Given the description of an element on the screen output the (x, y) to click on. 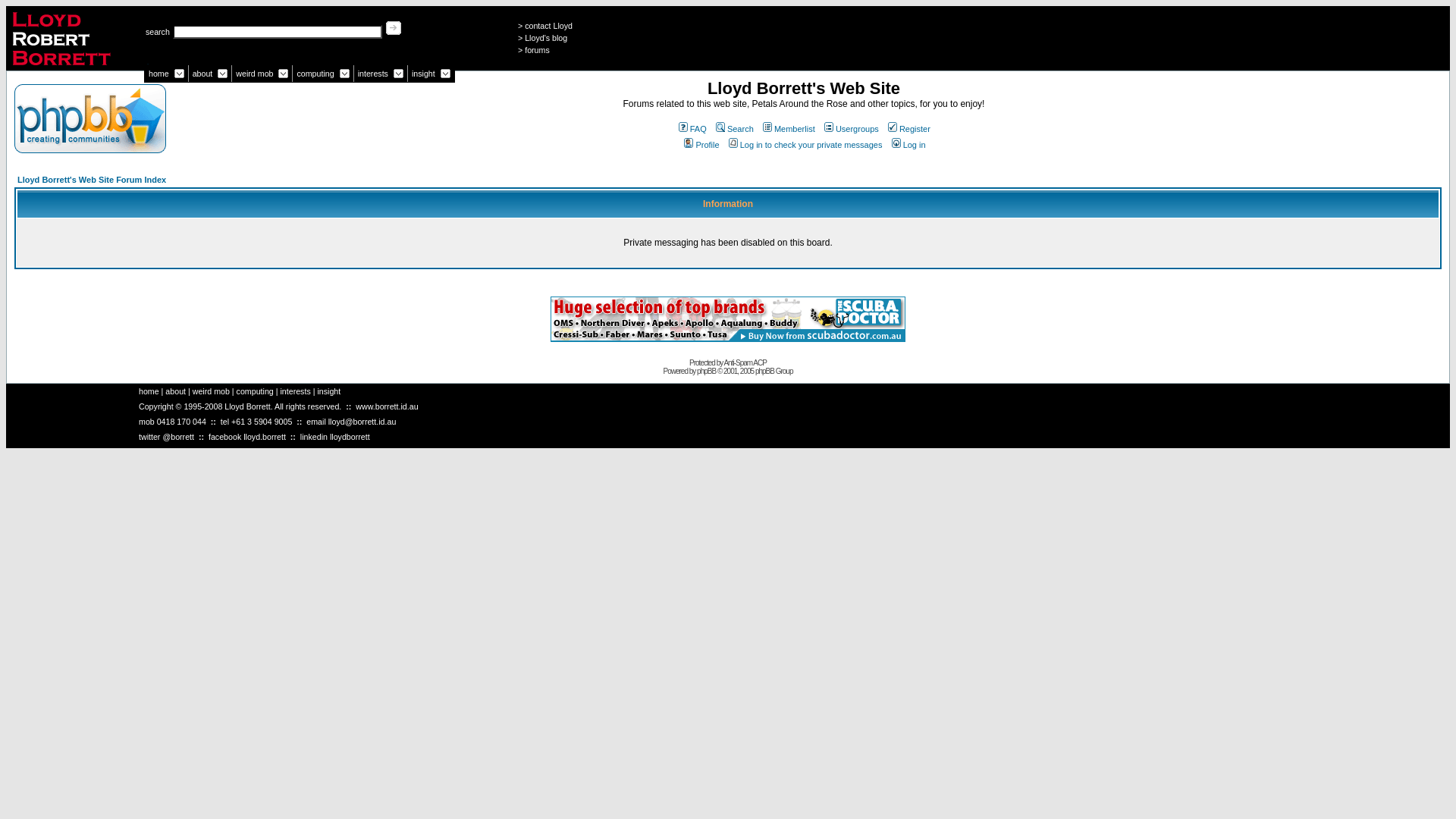
Anti-Spam ACP Element type: text (744, 362)
weird mob Element type: text (254, 73)
The Scuba Doctor Dive Shop Element type: hover (727, 319)
contact Lloyd Element type: text (548, 25)
Lloyd Borrett's Web Site Forum Index Element type: text (91, 179)
insight Element type: text (423, 73)
www.borrett.id.au Element type: text (386, 406)
about Element type: text (202, 73)
Log in Element type: text (907, 144)
Register Element type: text (907, 128)
@borrett Element type: text (178, 436)
Profile Element type: text (699, 144)
interests Element type: text (372, 73)
Memberlist Element type: text (787, 128)
computing Element type: text (314, 73)
phpBB Element type: text (705, 371)
FAQ Element type: text (691, 128)
lloyd.borrett Element type: text (264, 436)
lloydborrett Element type: text (349, 436)
Search Element type: text (733, 128)
about Element type: text (175, 390)
home Element type: text (158, 73)
insight Element type: text (328, 390)
Lloyd's blog Element type: text (545, 37)
Log in to check your private messages Element type: text (804, 144)
home Element type: text (148, 390)
The Scuba Doctor Dive Shop Element type: hover (727, 337)
lloyd@borrett.id.au Element type: text (362, 421)
Usergroups Element type: text (850, 128)
weird mob Element type: text (210, 390)
forums Element type: text (536, 49)
computing Element type: text (254, 390)
interests Element type: text (294, 390)
